Given the description of an element on the screen output the (x, y) to click on. 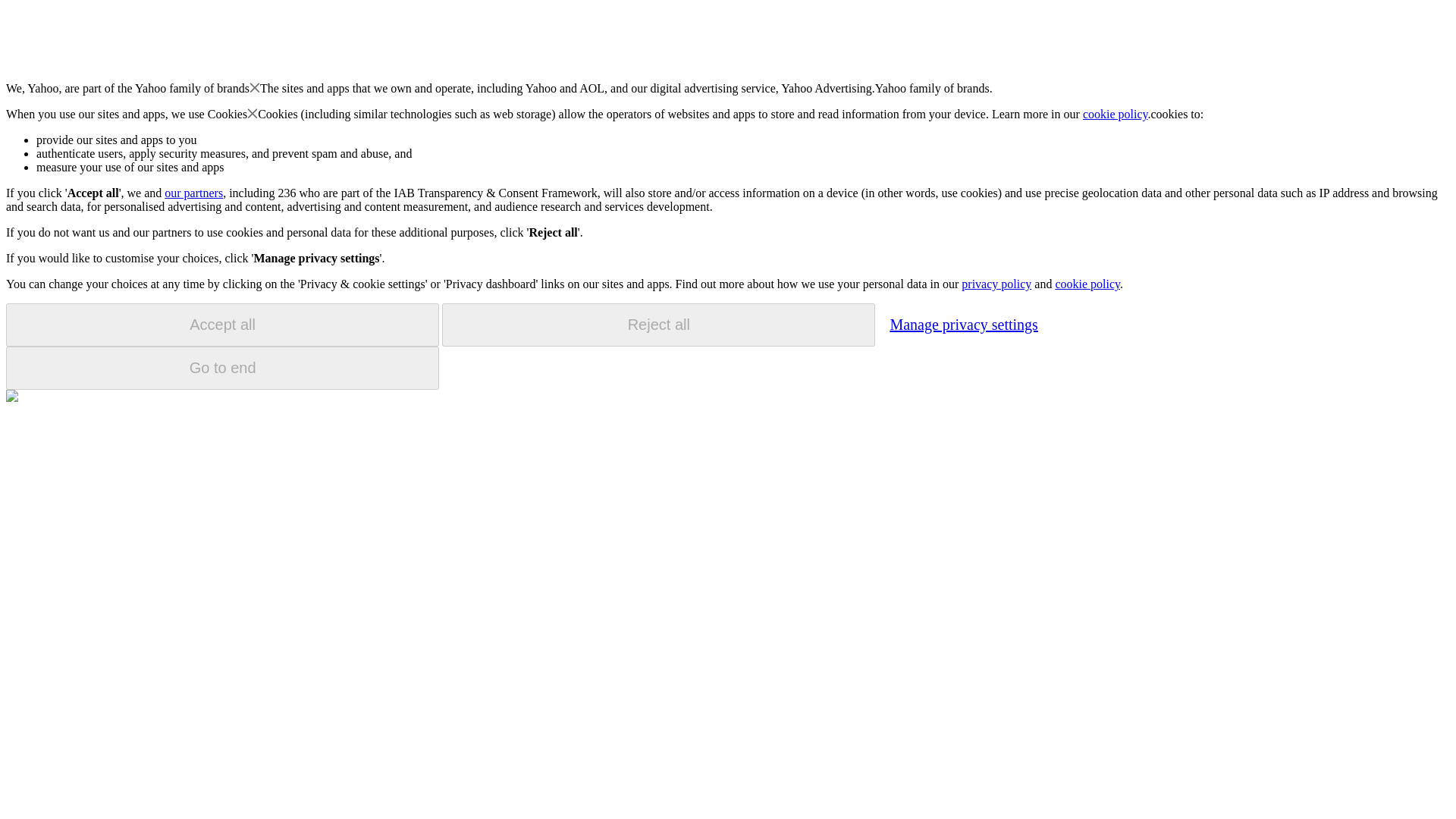
privacy policy (995, 283)
cookie policy (1115, 113)
our partners (193, 192)
Accept all (222, 324)
cookie policy (1086, 283)
Go to end (222, 367)
Manage privacy settings (963, 323)
Reject all (658, 324)
